Given the description of an element on the screen output the (x, y) to click on. 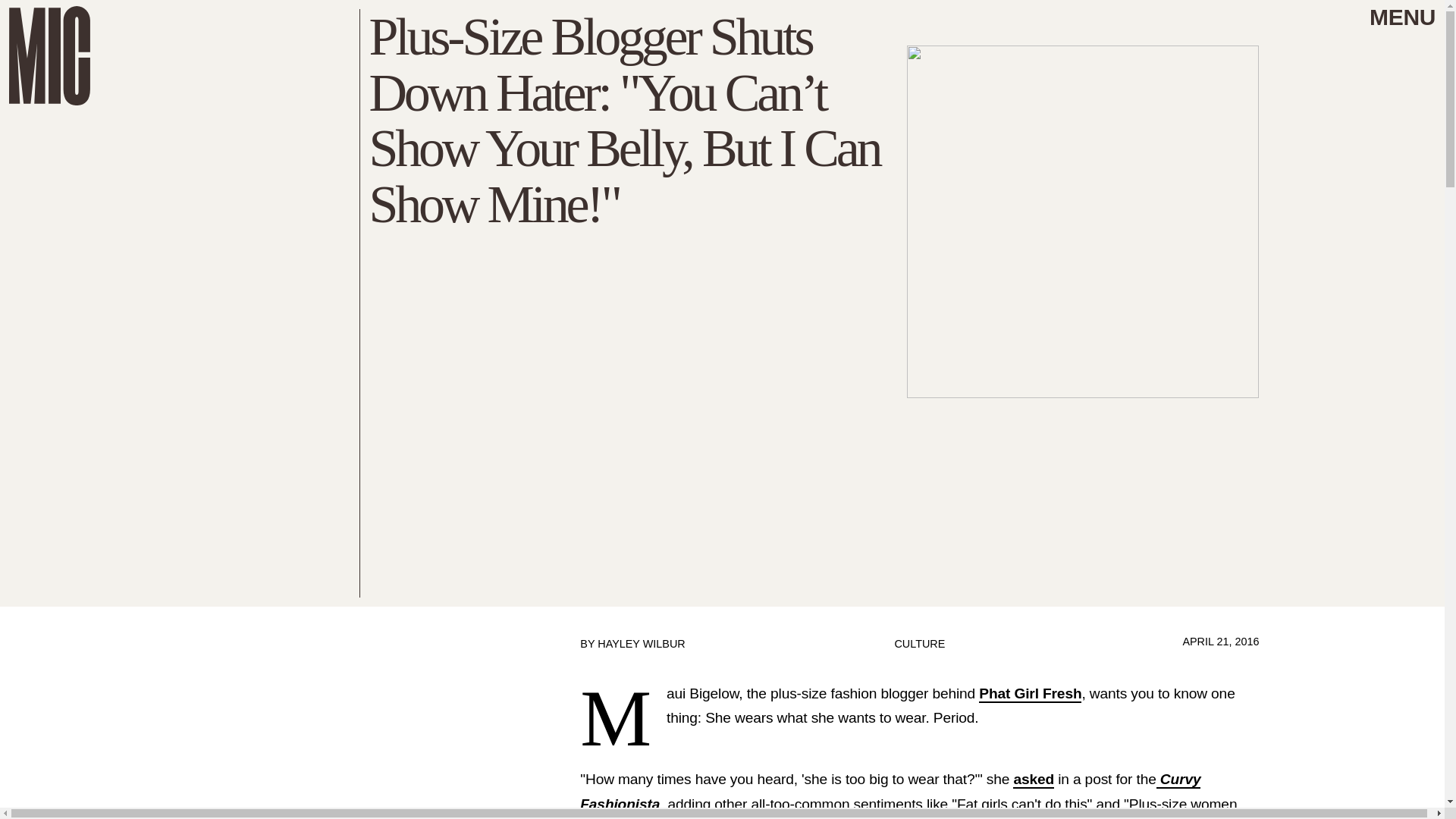
Phat Girl Fresh (1029, 693)
 Curvy Fashionista (889, 792)
asked (1033, 779)
HAYLEY WILBUR (640, 644)
